Given the description of an element on the screen output the (x, y) to click on. 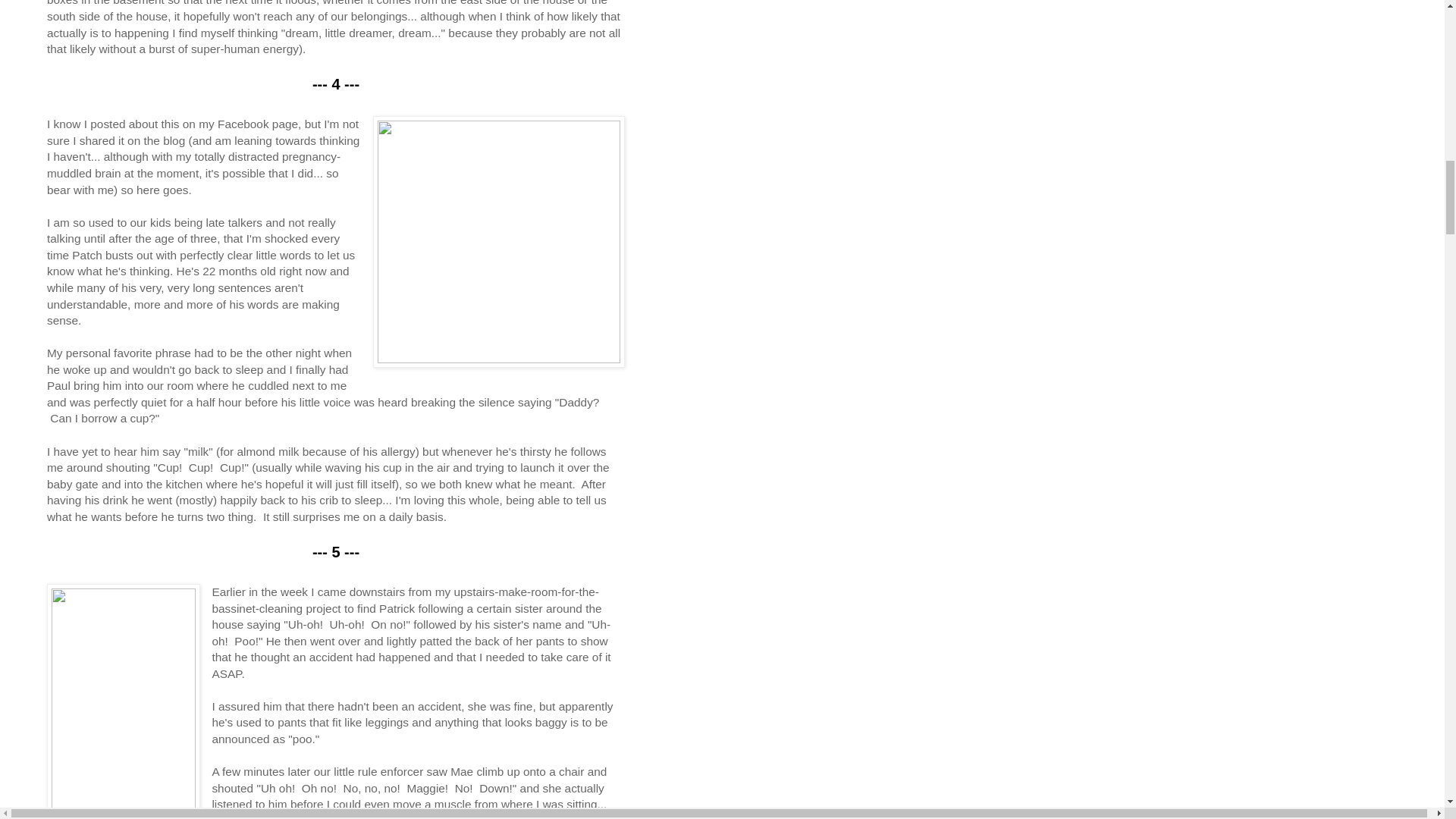
--- 4 --- (336, 84)
--- 5 --- (336, 551)
